Given the description of an element on the screen output the (x, y) to click on. 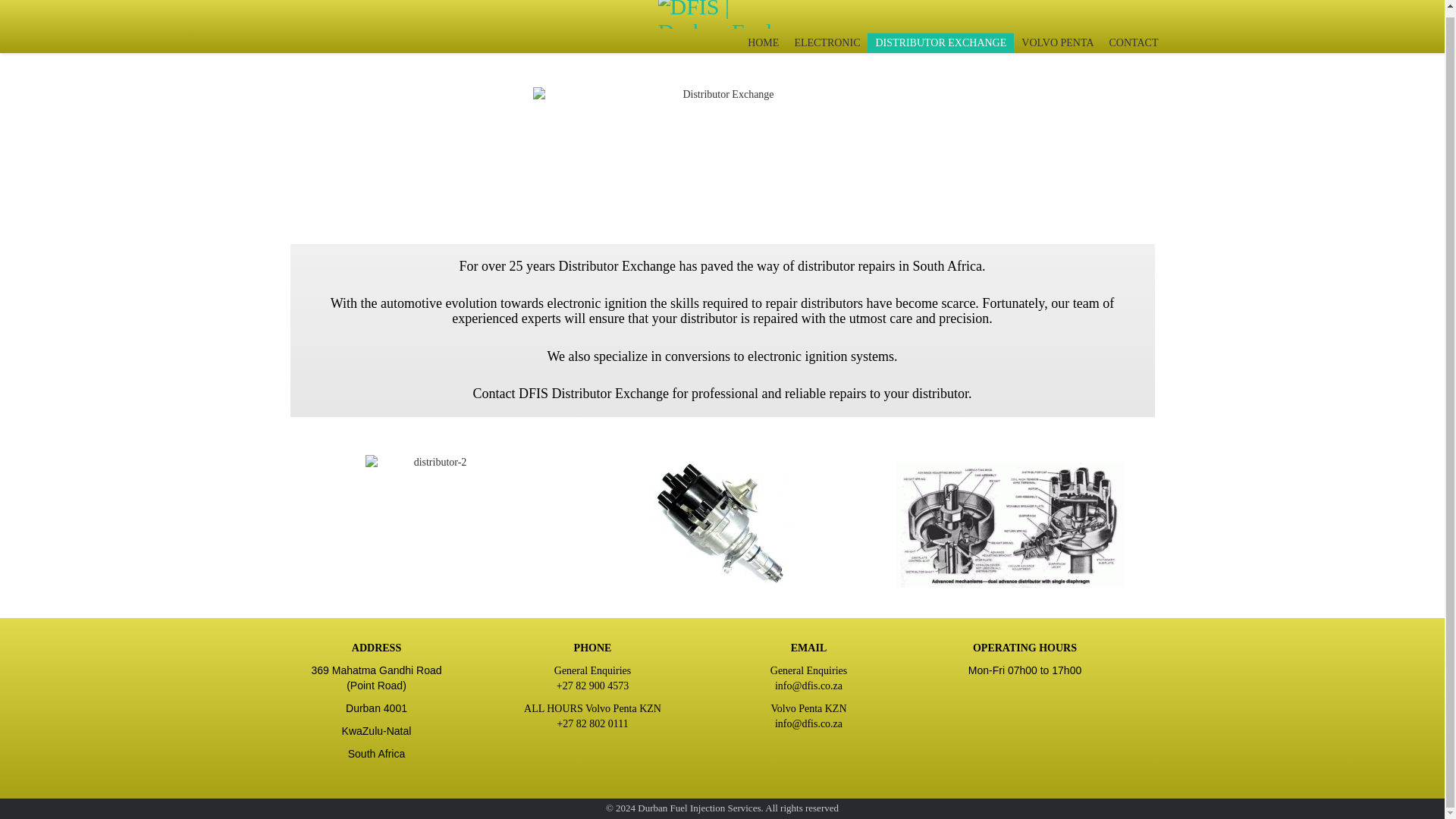
CONTACT (1133, 43)
distributor-3 (721, 524)
Distributor Exchange (721, 146)
Durban Fuel Injection Services (721, 808)
VOLVO PENTA (1056, 43)
distributor-2 (433, 524)
HOME (762, 43)
ELECTRONIC (826, 43)
DISTRIBUTOR EXCHANGE (940, 43)
